Given the description of an element on the screen output the (x, y) to click on. 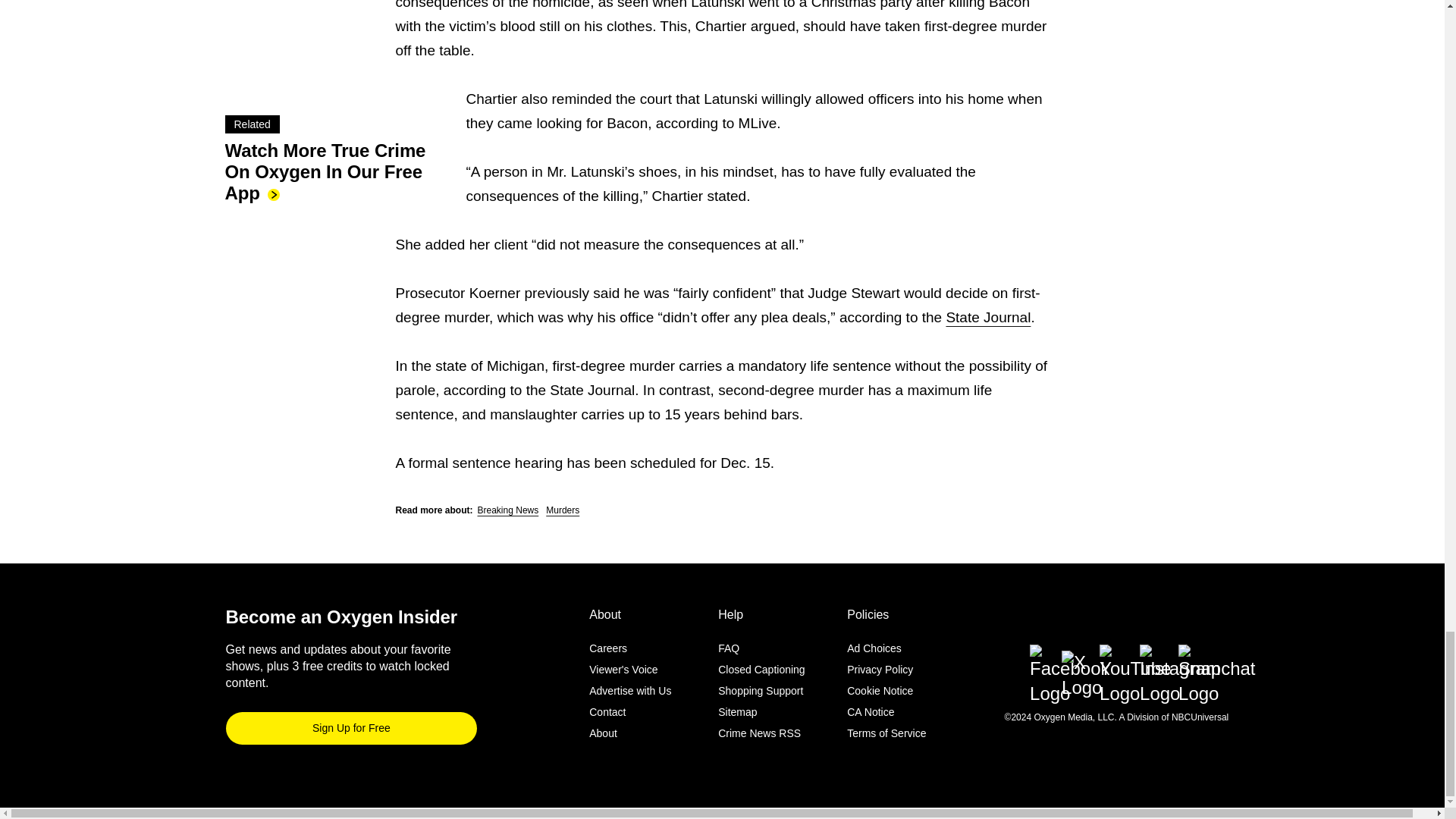
State Journal (987, 317)
Advertise with Us (630, 690)
Murders (562, 510)
Breaking News (507, 510)
